Given the description of an element on the screen output the (x, y) to click on. 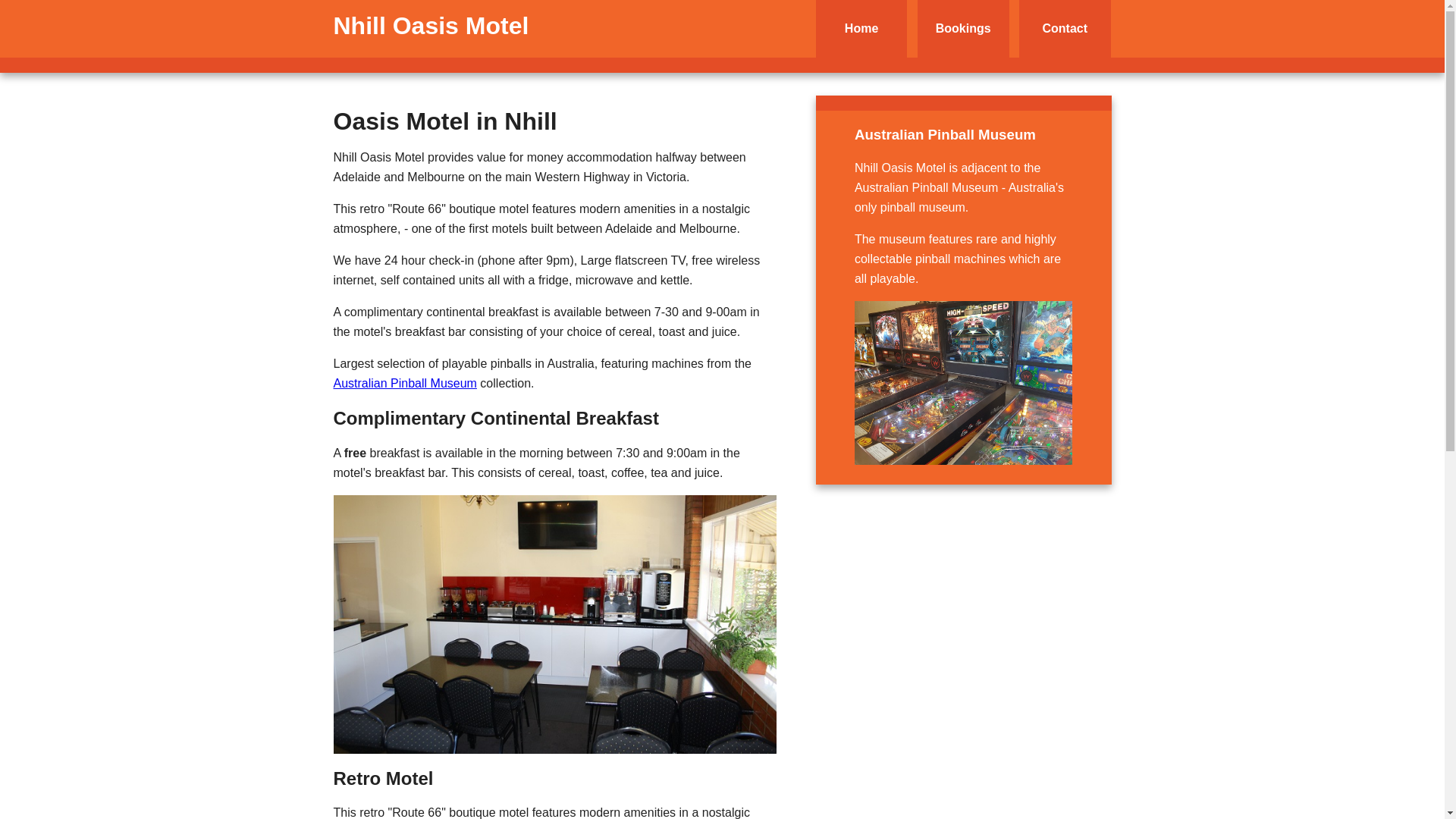
Australian Pinball Museum Element type: text (404, 382)
Contact Element type: text (1064, 28)
Home Element type: text (861, 28)
Bookings Element type: text (963, 28)
